Given the description of an element on the screen output the (x, y) to click on. 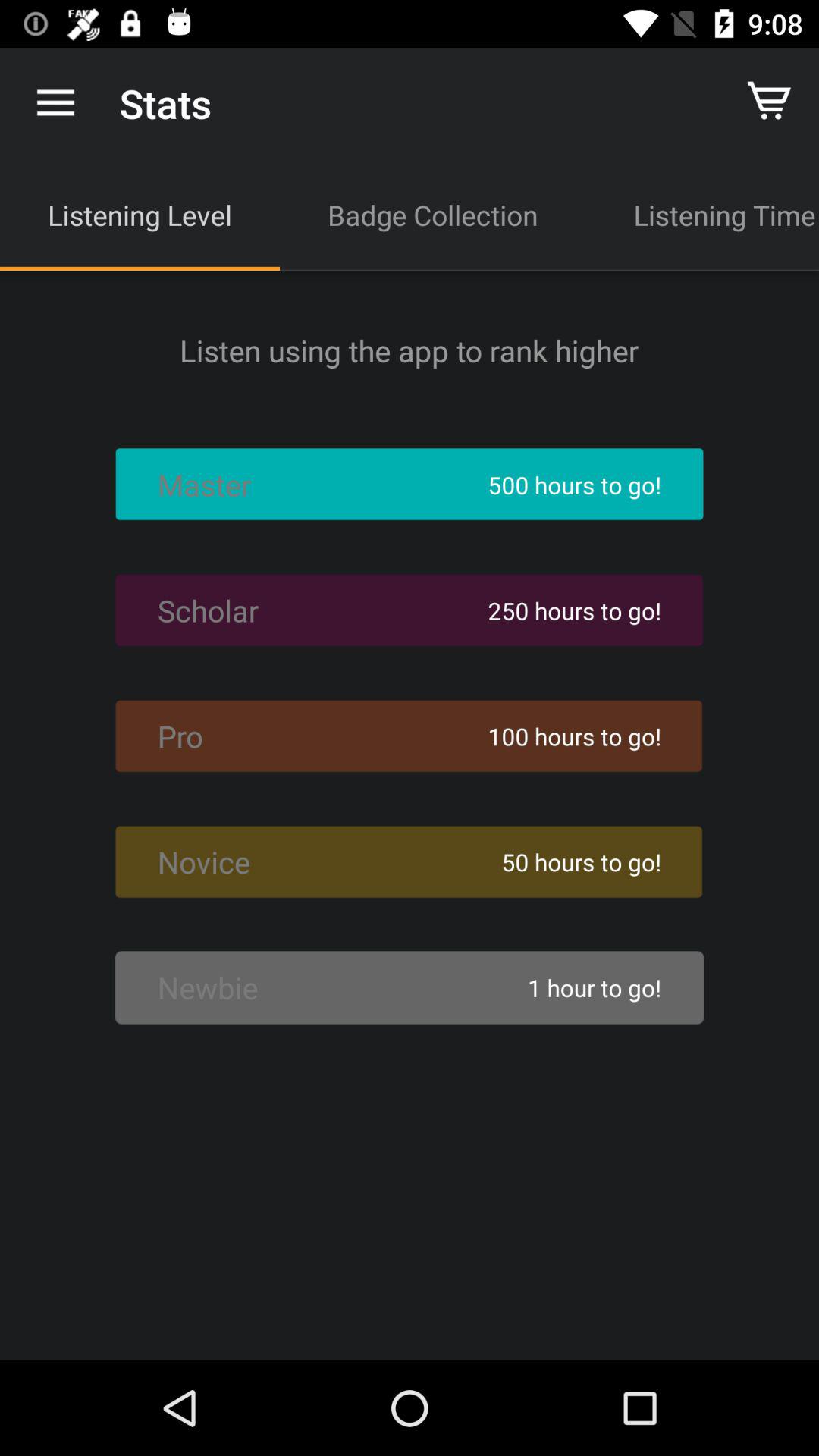
launch item above listen using the (432, 214)
